Given the description of an element on the screen output the (x, y) to click on. 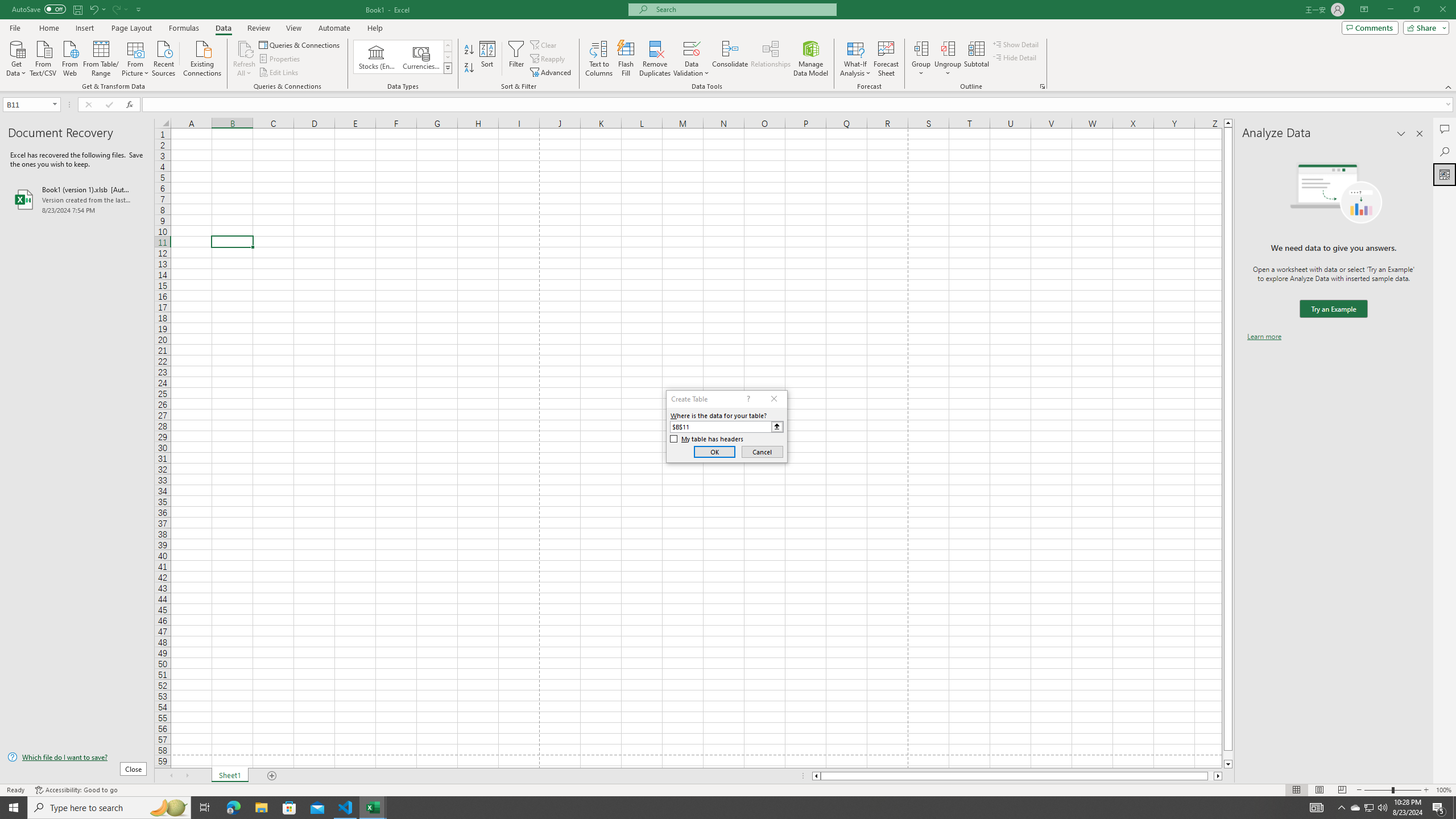
From Text/CSV (43, 57)
Relationships (770, 58)
